Given the description of an element on the screen output the (x, y) to click on. 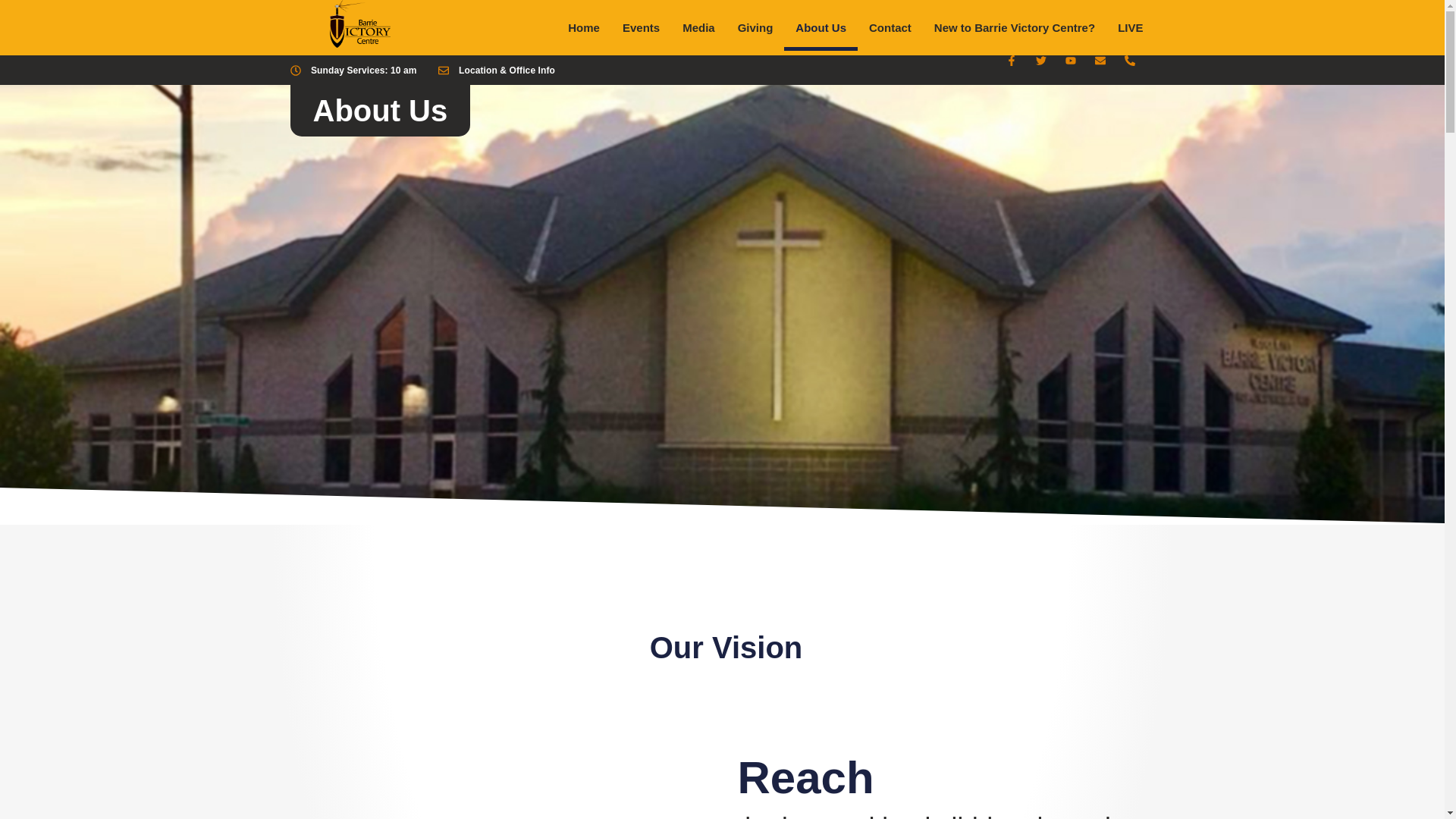
About Us (820, 27)
New to Barrie Victory Centre? (1014, 27)
Home (583, 27)
Media (698, 27)
LIVE (1130, 27)
Events (641, 27)
Sunday Services: 10 am (352, 70)
Contact (890, 27)
Giving (755, 27)
